Given the description of an element on the screen output the (x, y) to click on. 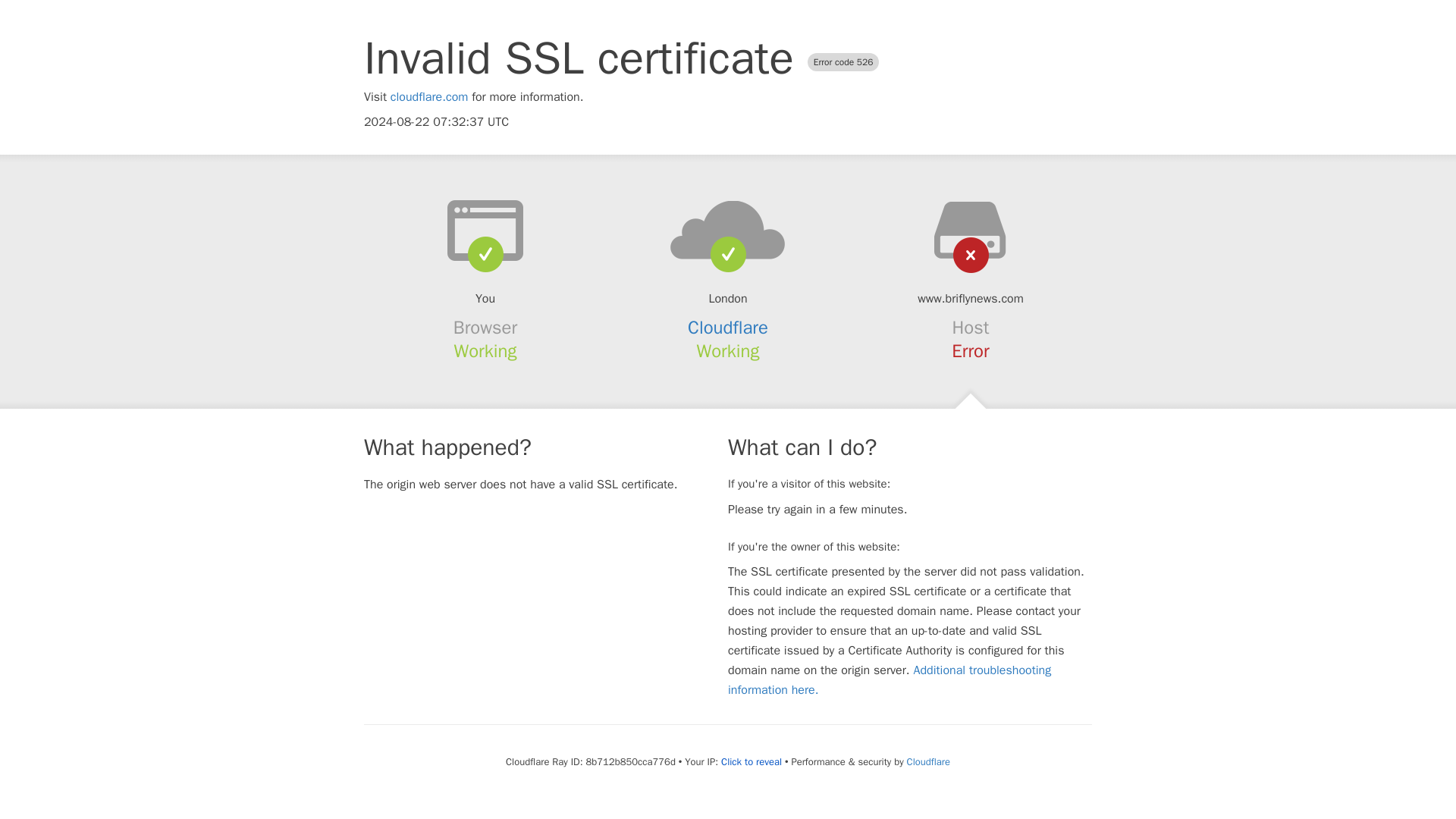
Cloudflare (727, 327)
Click to reveal (750, 762)
cloudflare.com (429, 96)
Cloudflare (928, 761)
Additional troubleshooting information here. (889, 679)
